Given the description of an element on the screen output the (x, y) to click on. 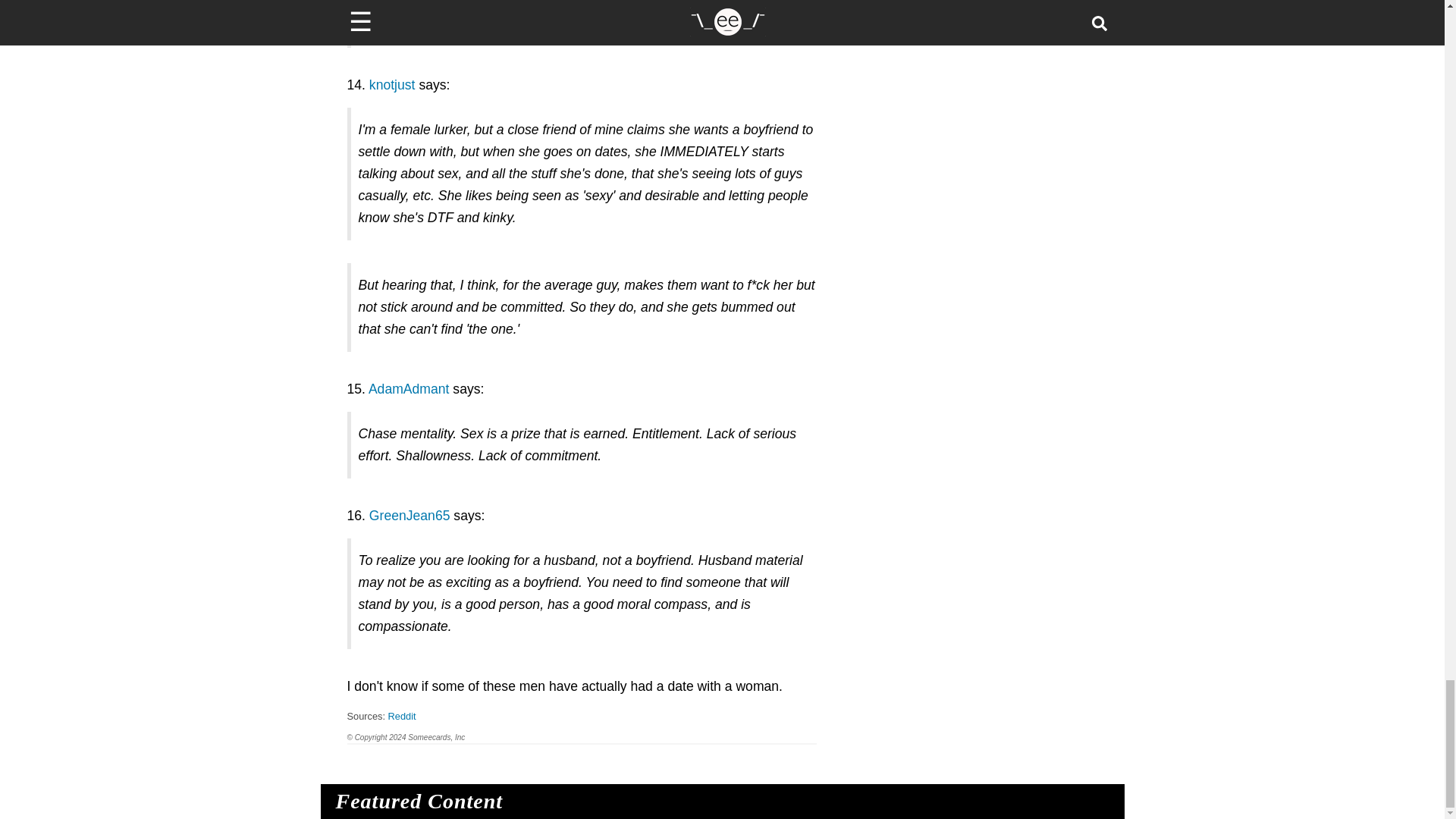
GreenJean65 (409, 515)
Reddit (402, 715)
AdamAdmant (408, 388)
knotjust (391, 84)
